Given the description of an element on the screen output the (x, y) to click on. 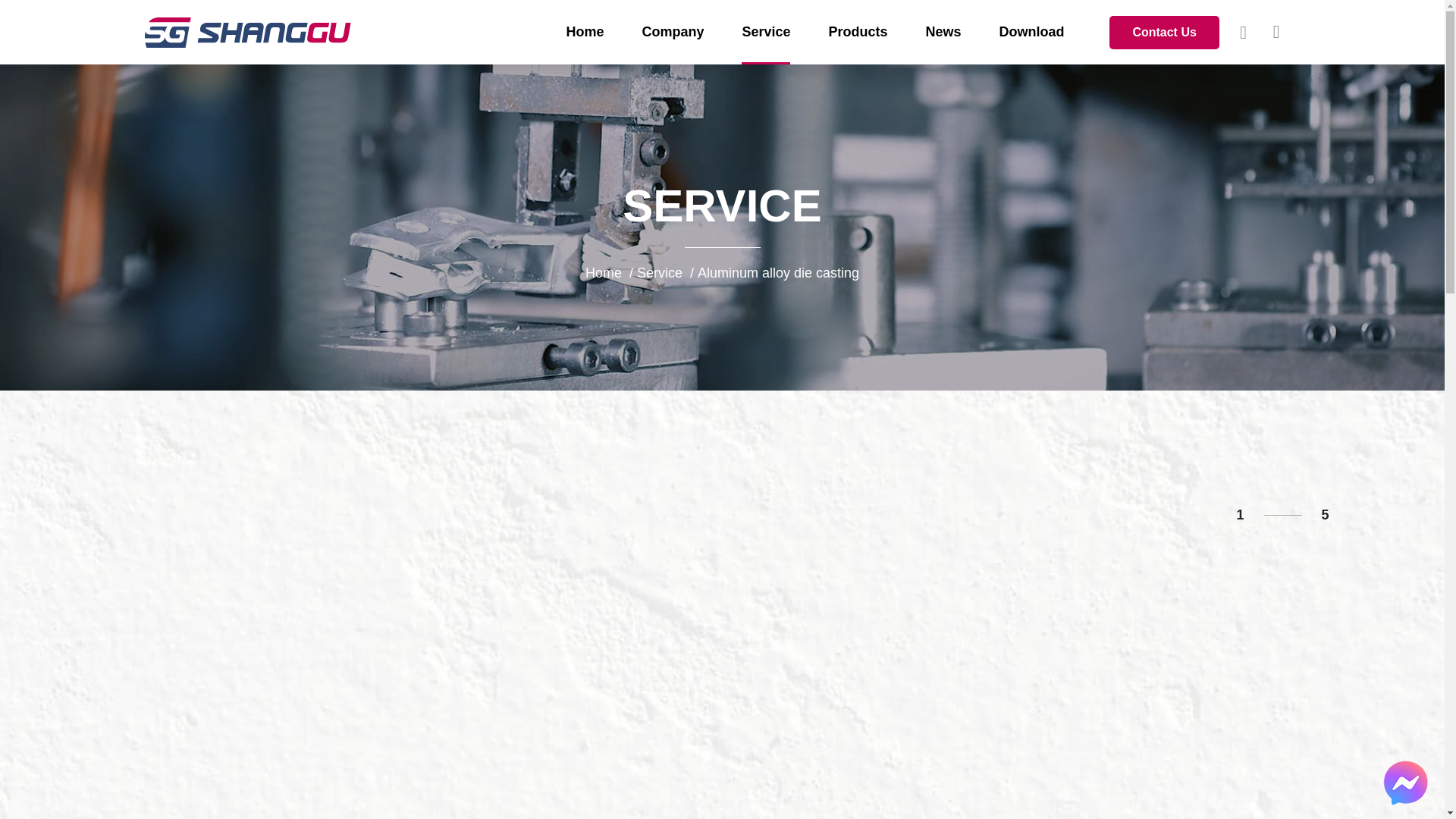
Download (1031, 32)
Download (1031, 32)
Company (672, 32)
Home (603, 272)
Shang Gu Enterprise Co., Ltd. (248, 31)
Aluminum alloy die casting (778, 272)
Service (659, 272)
Products (857, 32)
Products (857, 32)
Company (672, 32)
